Given the description of an element on the screen output the (x, y) to click on. 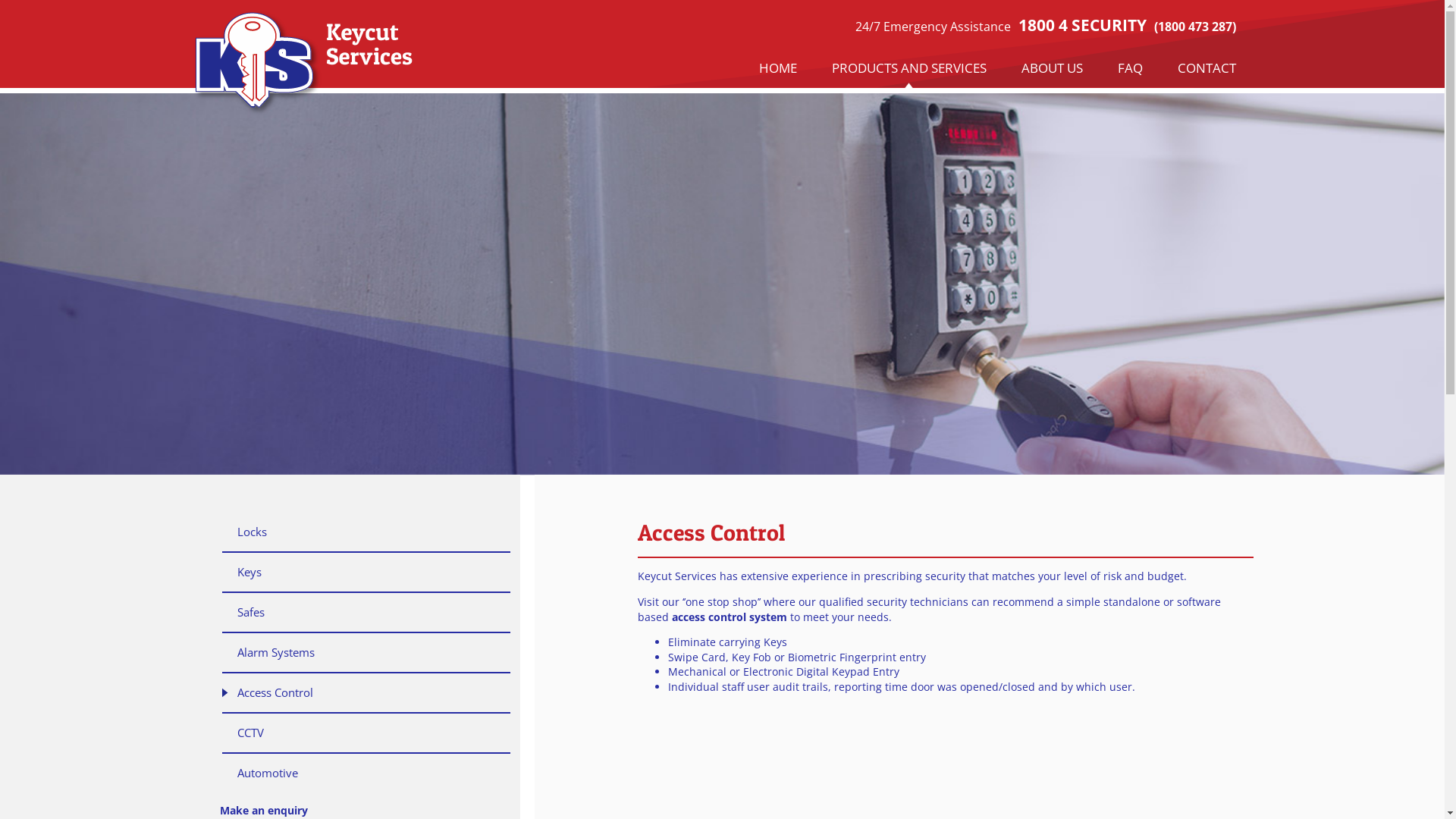
Safes Element type: text (365, 613)
Keys Element type: text (365, 572)
Locks Element type: text (365, 532)
FAQ Element type: text (1129, 67)
CCTV Element type: text (365, 733)
Automotive Element type: text (365, 772)
PRODUCTS AND SERVICES Element type: text (909, 67)
Alarm Systems Element type: text (365, 653)
Access Control Element type: text (365, 693)
CONTACT Element type: text (1206, 67)
ABOUT US Element type: text (1052, 67)
HOME Element type: text (777, 67)
